Given the description of an element on the screen output the (x, y) to click on. 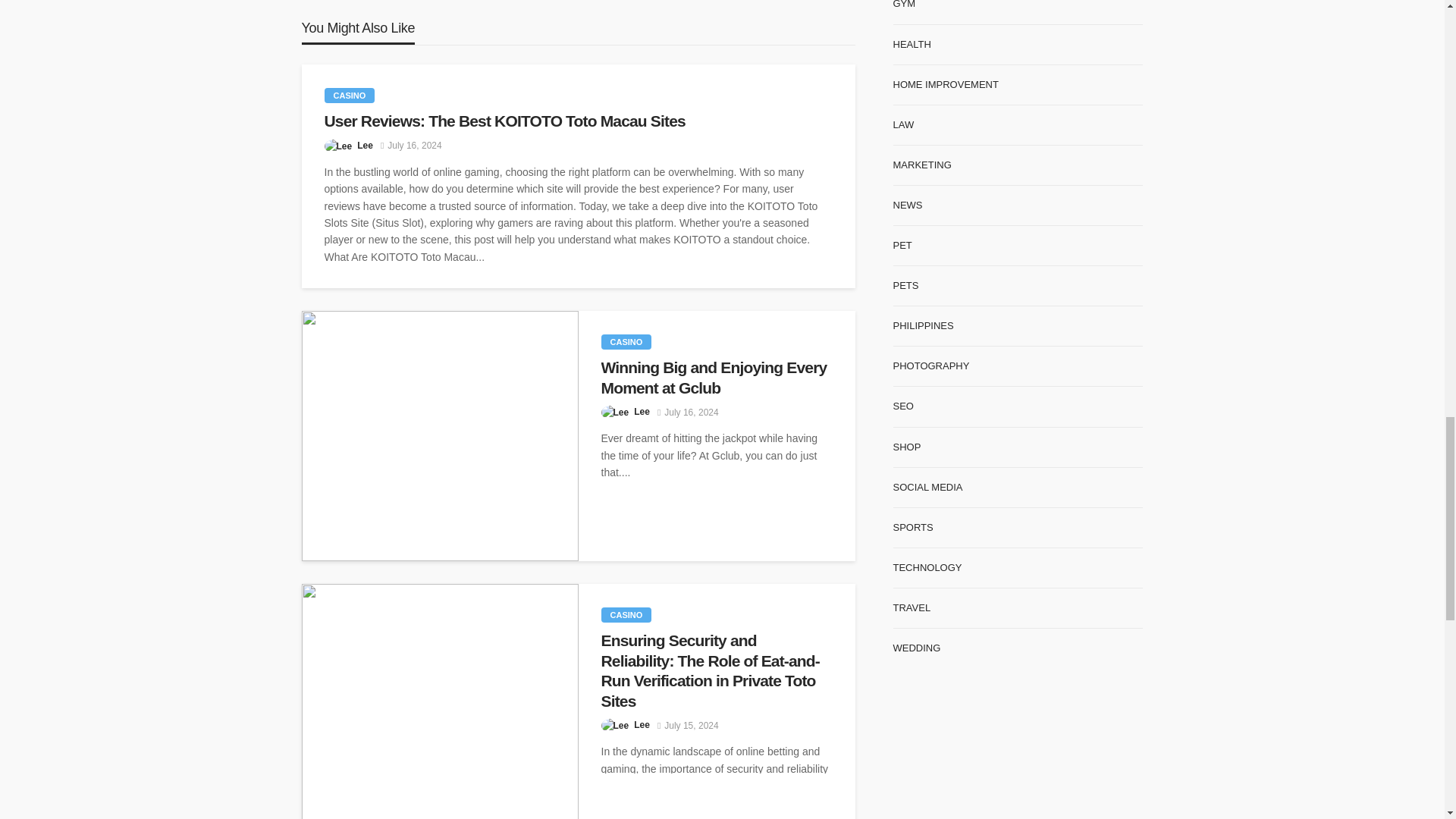
Casino (624, 614)
Lee (364, 145)
Lee (641, 411)
CASINO (349, 95)
Winning Big and Enjoying Every Moment at Gclub (715, 377)
User Reviews: The Best KOITOTO Toto Macau Sites (578, 121)
Casino (349, 95)
Winning Big and Enjoying Every Moment at Gclub (715, 377)
Casino (624, 341)
CASINO (624, 614)
User Reviews: The Best KOITOTO Toto Macau Sites (578, 121)
CASINO (624, 341)
